Given the description of an element on the screen output the (x, y) to click on. 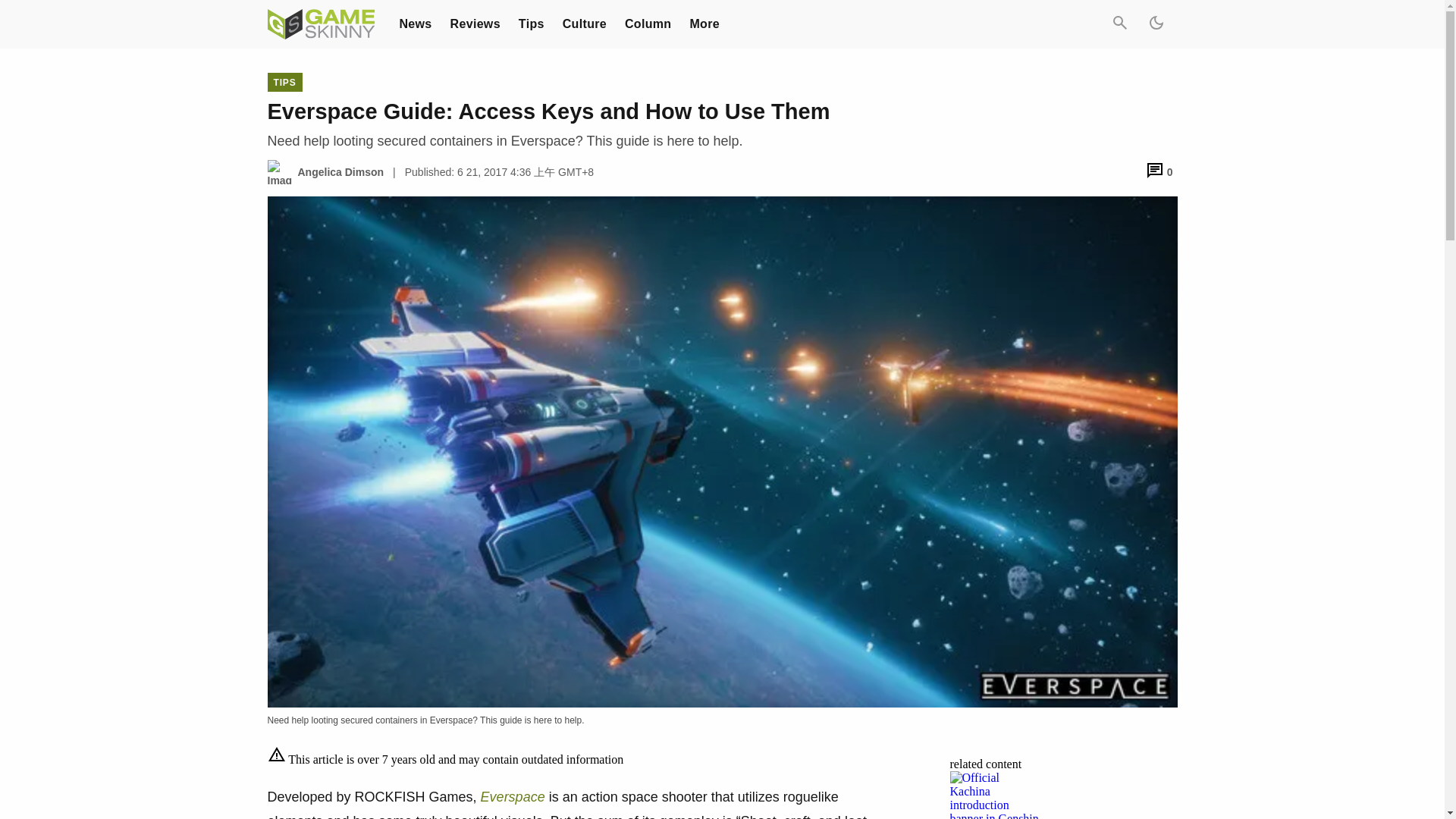
Tips (531, 23)
Culture (584, 23)
News (414, 23)
Dark Mode (1155, 23)
Search (1118, 23)
Reviews (474, 23)
Column (647, 23)
